Given the description of an element on the screen output the (x, y) to click on. 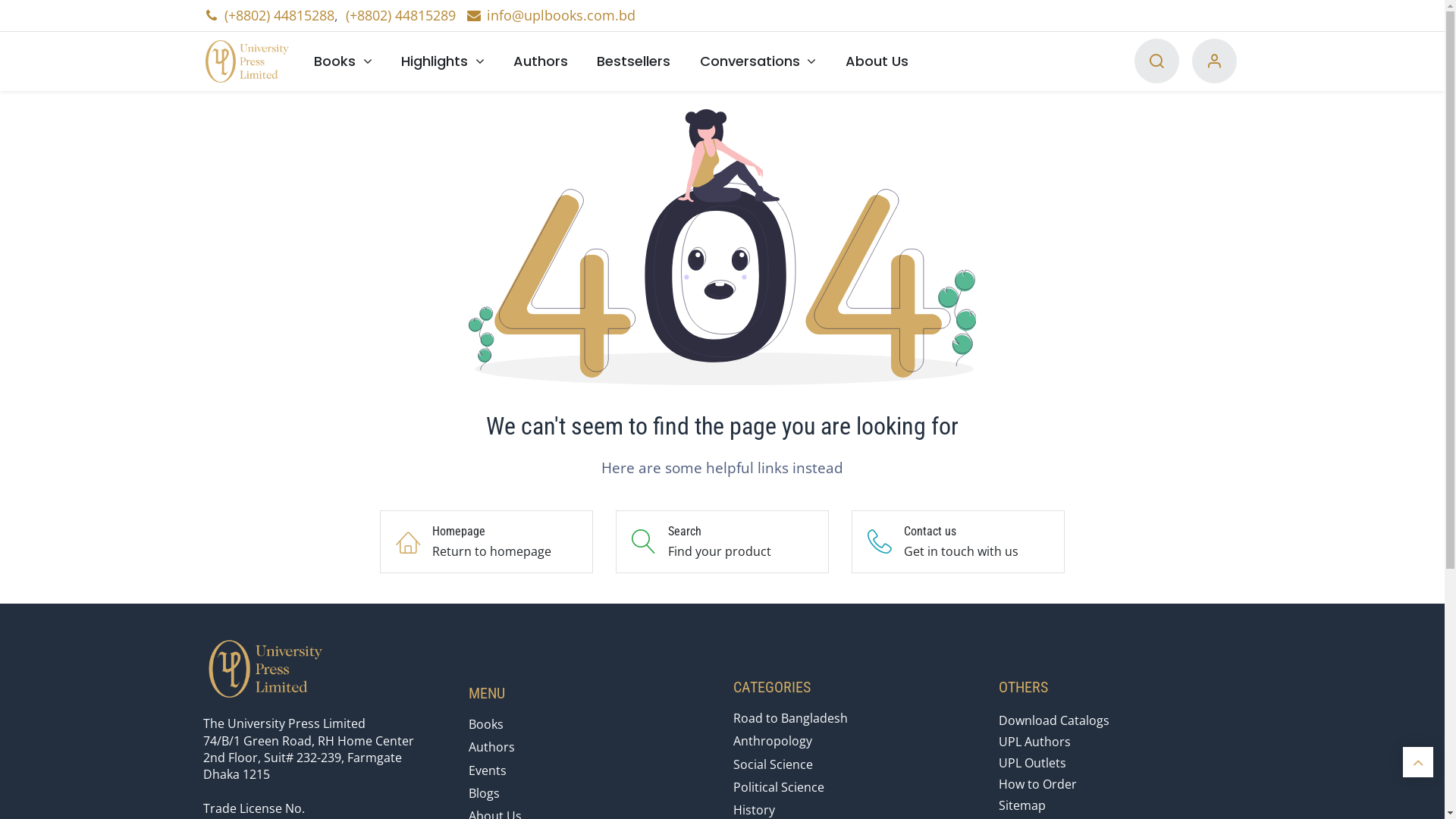
Political Science Element type: text (778, 786)
Search
Find your product Element type: text (721, 541)
Events Element type: text (487, 770)
How to Order Element type: text (1037, 783)
Blogs Element type: text (483, 792)
Authors Element type: text (540, 60)
Contact us
Get in touch with us Element type: text (957, 541)
Conversations Element type: text (758, 60)
(+8802) 44815289 Element type: text (400, 15)
UPL Outlets Element type: text (1032, 762)
Books Element type: text (342, 60)
Authors Element type: text (491, 746)
Highlights Element type: text (442, 60)
Homepage
Return to homepage Element type: text (486, 541)
Road to Bangladesh Element type: text (790, 717)
(+8802) 44815288 Element type: text (279, 15)
info@uplbooks.com.bd Element type: text (550, 15)
Bestsellers Element type: text (633, 60)
Anthropology Element type: text (772, 740)
History Element type: text (754, 809)
UPL Authors Element type: text (1034, 741)
Sitemap Element type: text (1021, 805)
Download Catalogs Element type: text (1053, 720)
About Us Element type: text (876, 60)
The University Press Limited Element type: hover (251, 61)
Scroll back to top Element type: hover (1417, 761)
Books Element type: text (485, 723)
Social Science Element type: text (772, 764)
